Given the description of an element on the screen output the (x, y) to click on. 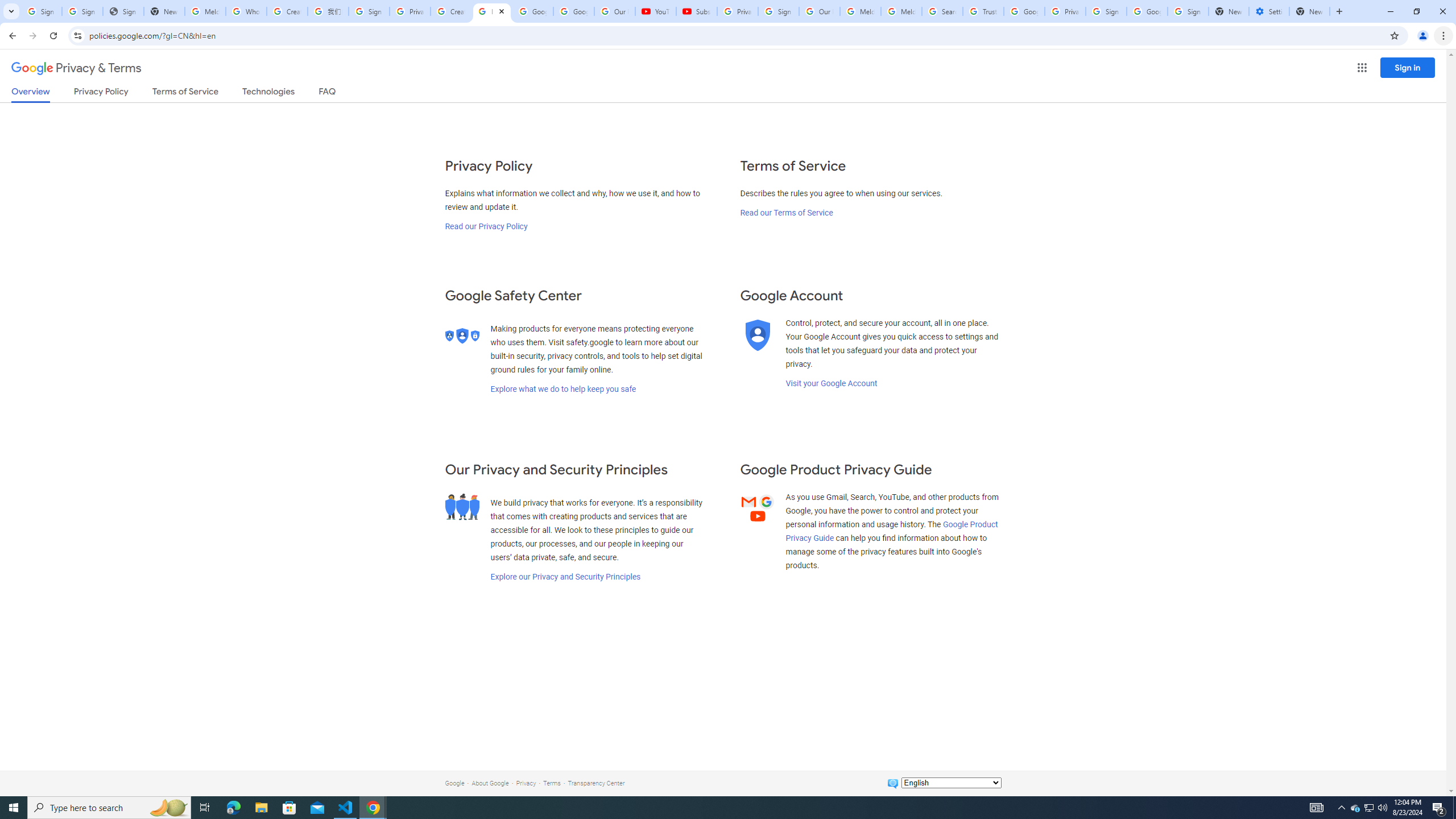
YouTube (655, 11)
Sign in - Google Accounts (368, 11)
Sign in - Google Accounts (41, 11)
Privacy & Terms (76, 68)
